Given the description of an element on the screen output the (x, y) to click on. 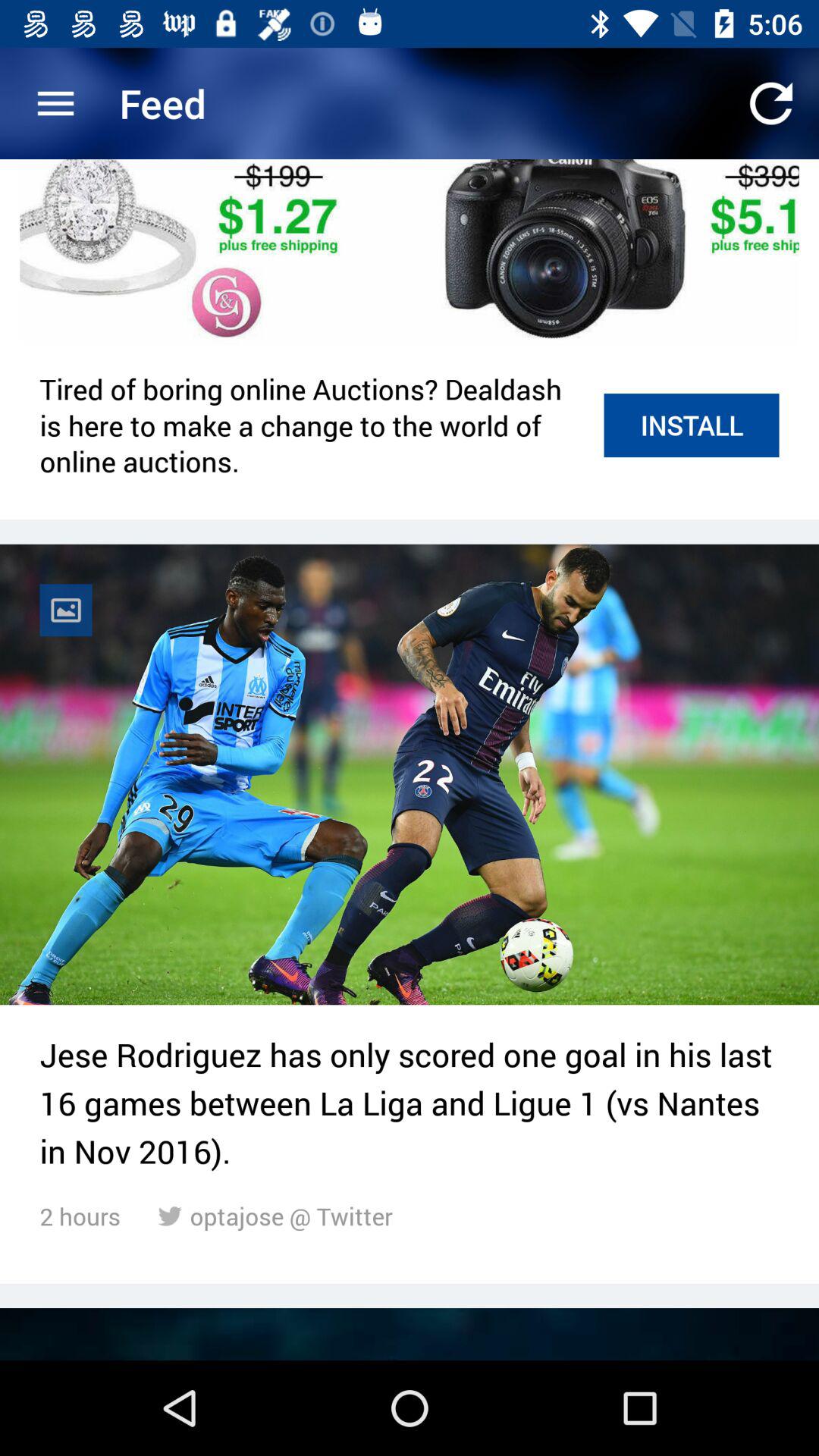
select the app next to the feed item (771, 103)
